Given the description of an element on the screen output the (x, y) to click on. 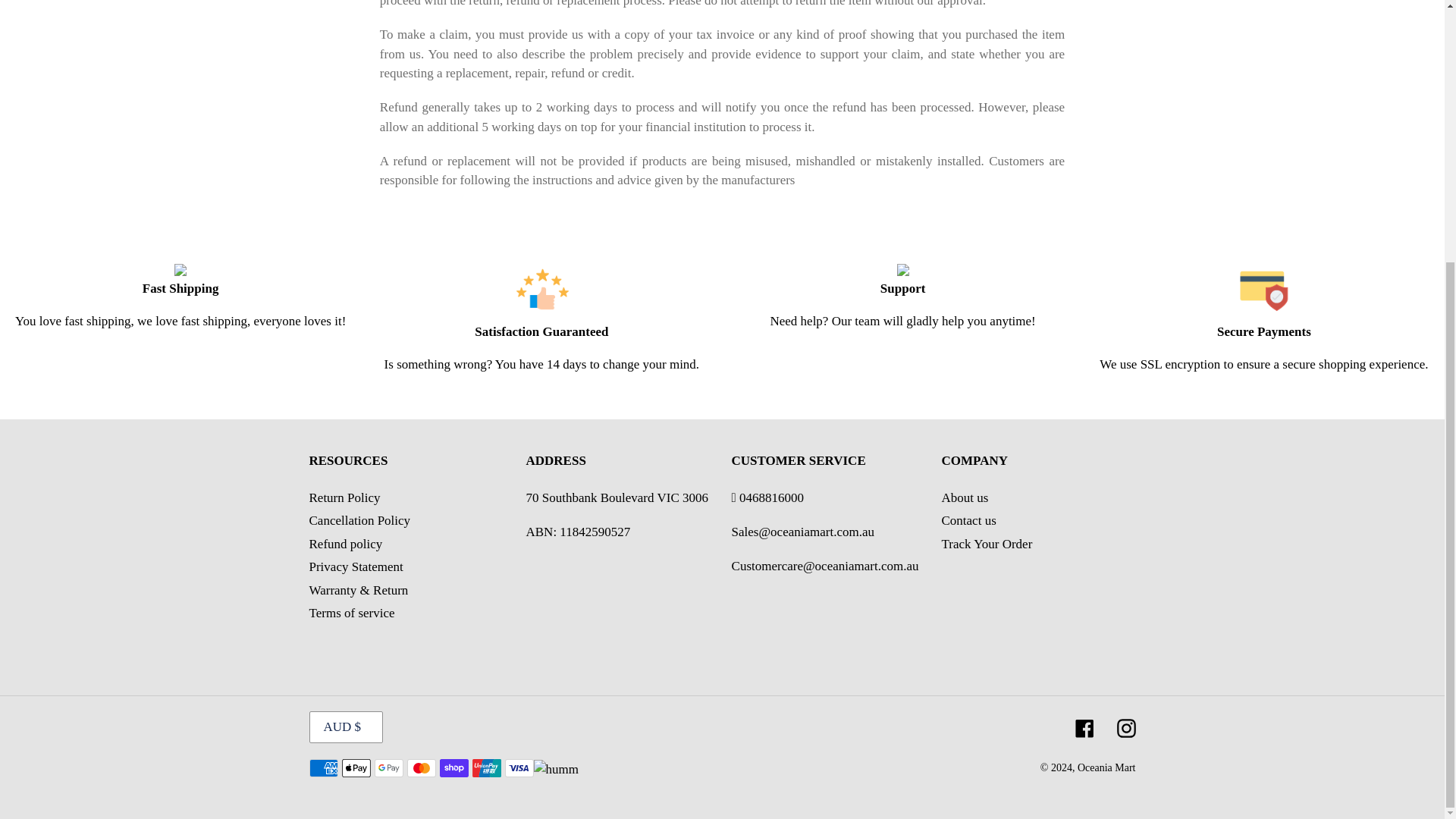
Return Policy (344, 497)
Terms of service (351, 612)
Privacy Statement (355, 566)
Cancellation Policy (359, 520)
Refund policy (345, 544)
About us (965, 497)
Contact us (968, 520)
Track Your Order (987, 544)
